Given the description of an element on the screen output the (x, y) to click on. 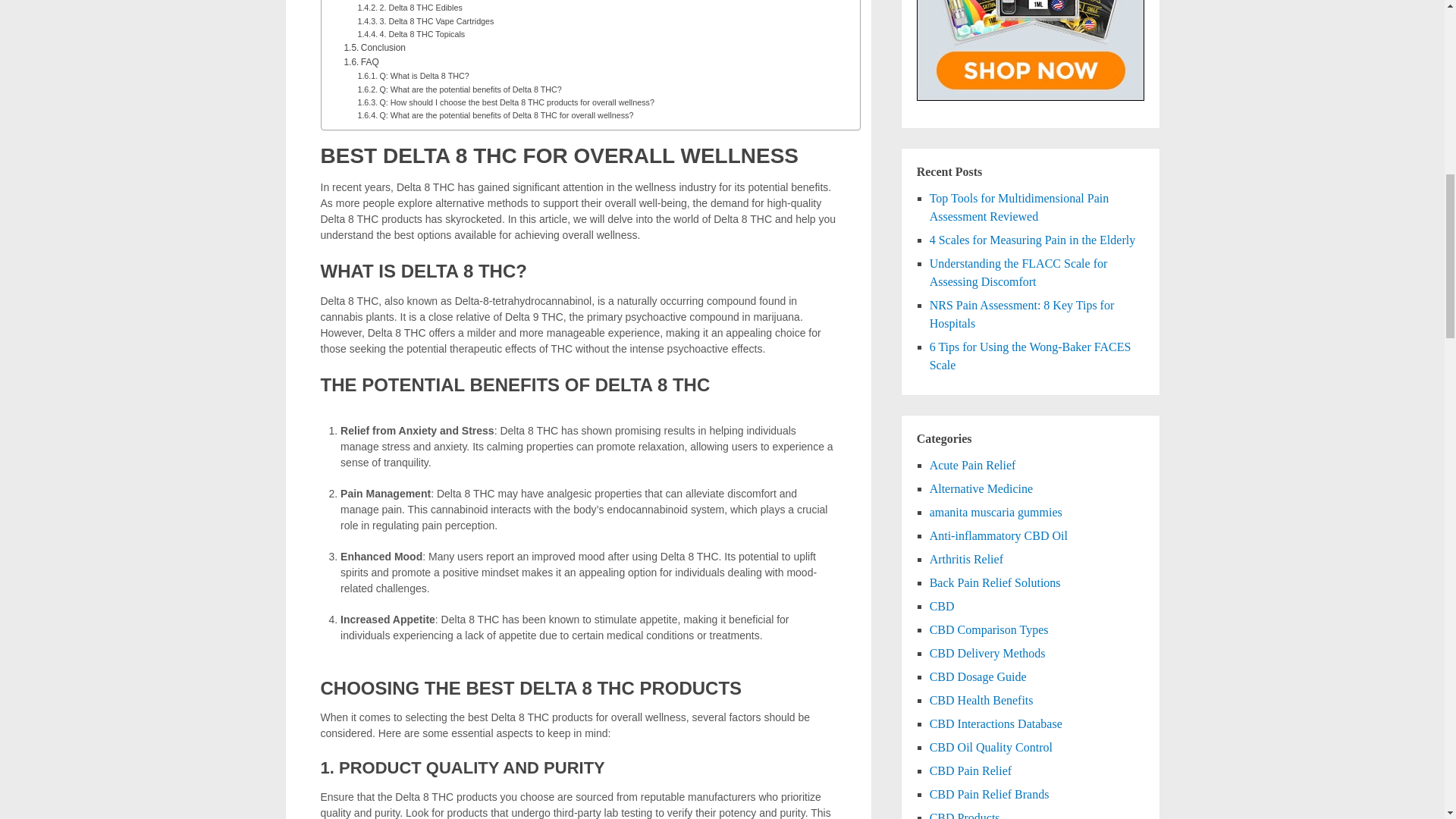
Q: What are the potential benefits of Delta 8 THC? (458, 89)
FAQ (360, 62)
1. Delta 8 THC Tinctures (412, 0)
2. Delta 8 THC Edibles (408, 7)
2. Delta 8 THC Edibles (408, 7)
3. Delta 8 THC Vape Cartridges (424, 21)
1. Delta 8 THC Tinctures (412, 0)
Conclusion (374, 47)
